Given the description of an element on the screen output the (x, y) to click on. 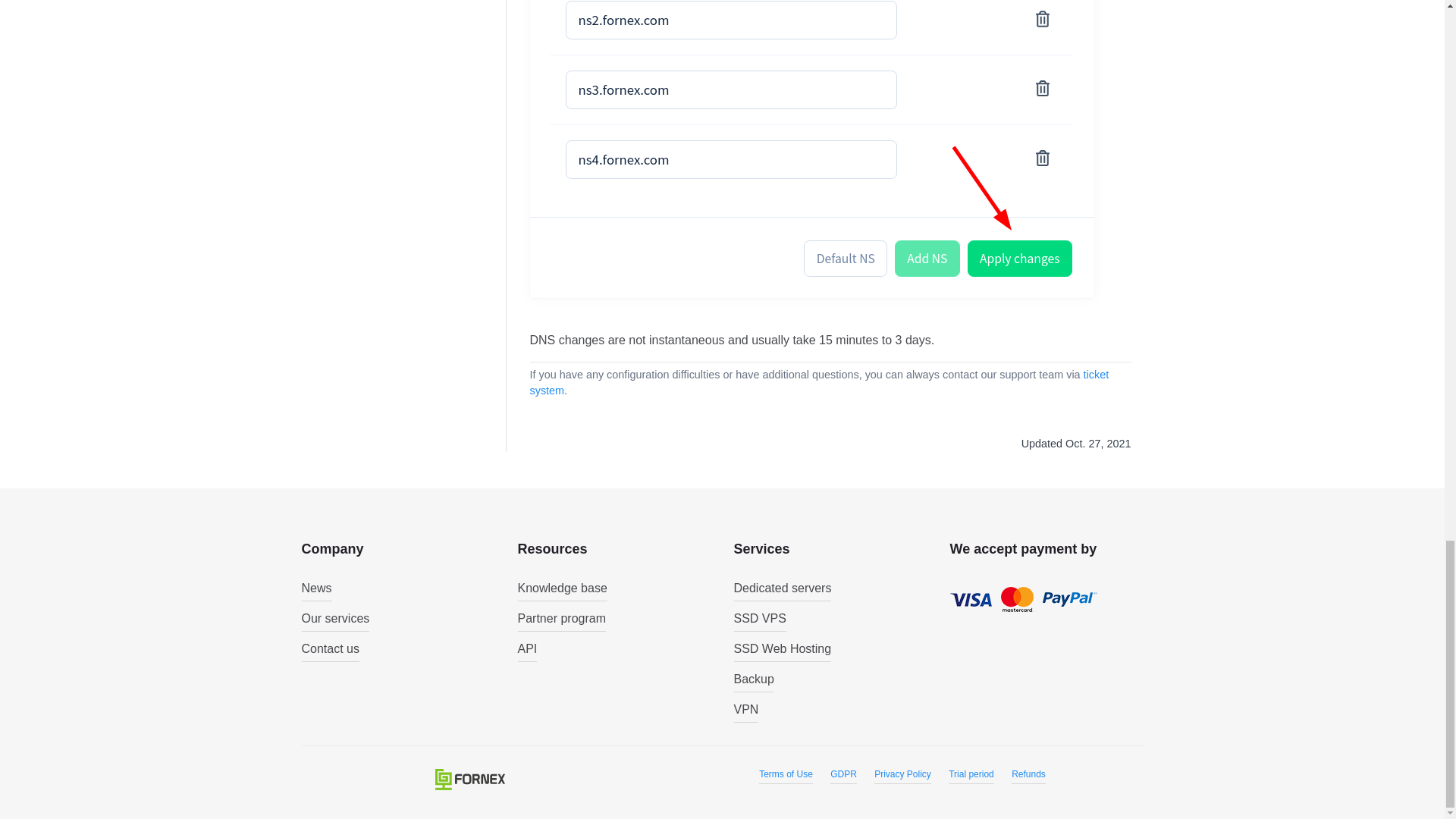
API (526, 651)
Our services (335, 620)
SSD VPS (759, 620)
Knowledge base (561, 590)
Terms of Use (785, 776)
Partner program (560, 620)
VPN (745, 711)
Contact us (330, 651)
SSD Web Hosting (782, 651)
ticket system (818, 382)
